Given the description of an element on the screen output the (x, y) to click on. 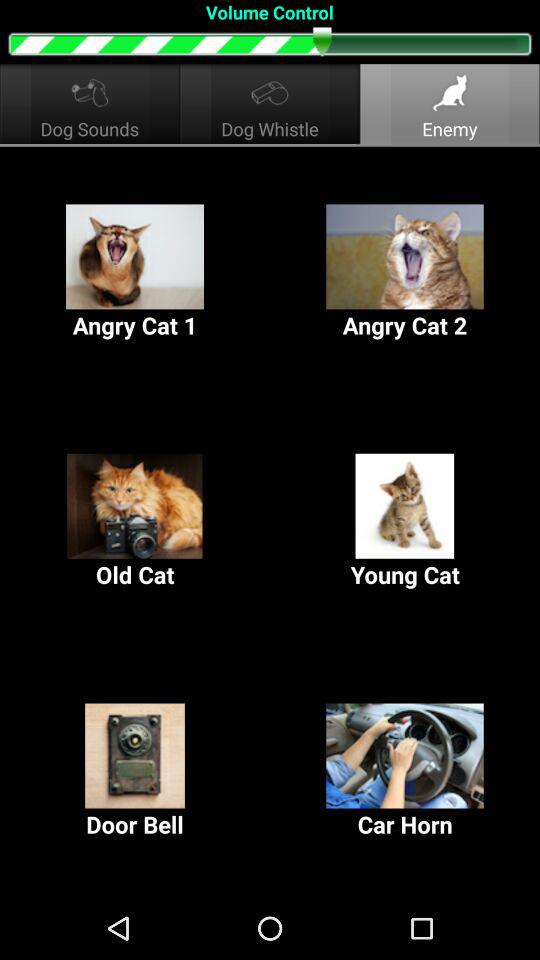
swipe to the old cat (135, 521)
